Given the description of an element on the screen output the (x, y) to click on. 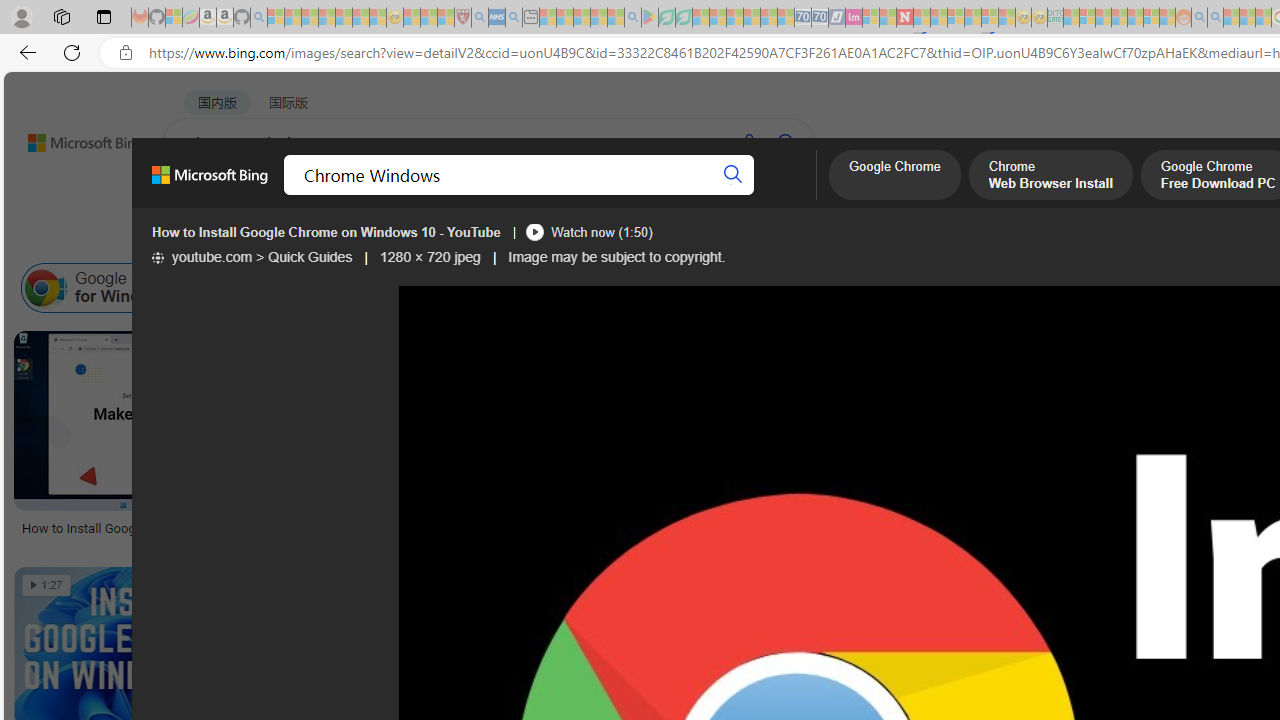
Microsoft Start - Sleeping (1231, 17)
Microsoft Bing, Back to Bing search (209, 183)
Watch now (1:50) (588, 232)
Search button (732, 174)
New tab - Sleeping (530, 17)
IMAGES (360, 195)
Image size (222, 237)
New Report Confirms 2023 Was Record Hot | Watch - Sleeping (343, 17)
Terms of Use Agreement - Sleeping (666, 17)
Google Chrome (894, 177)
